Given the description of an element on the screen output the (x, y) to click on. 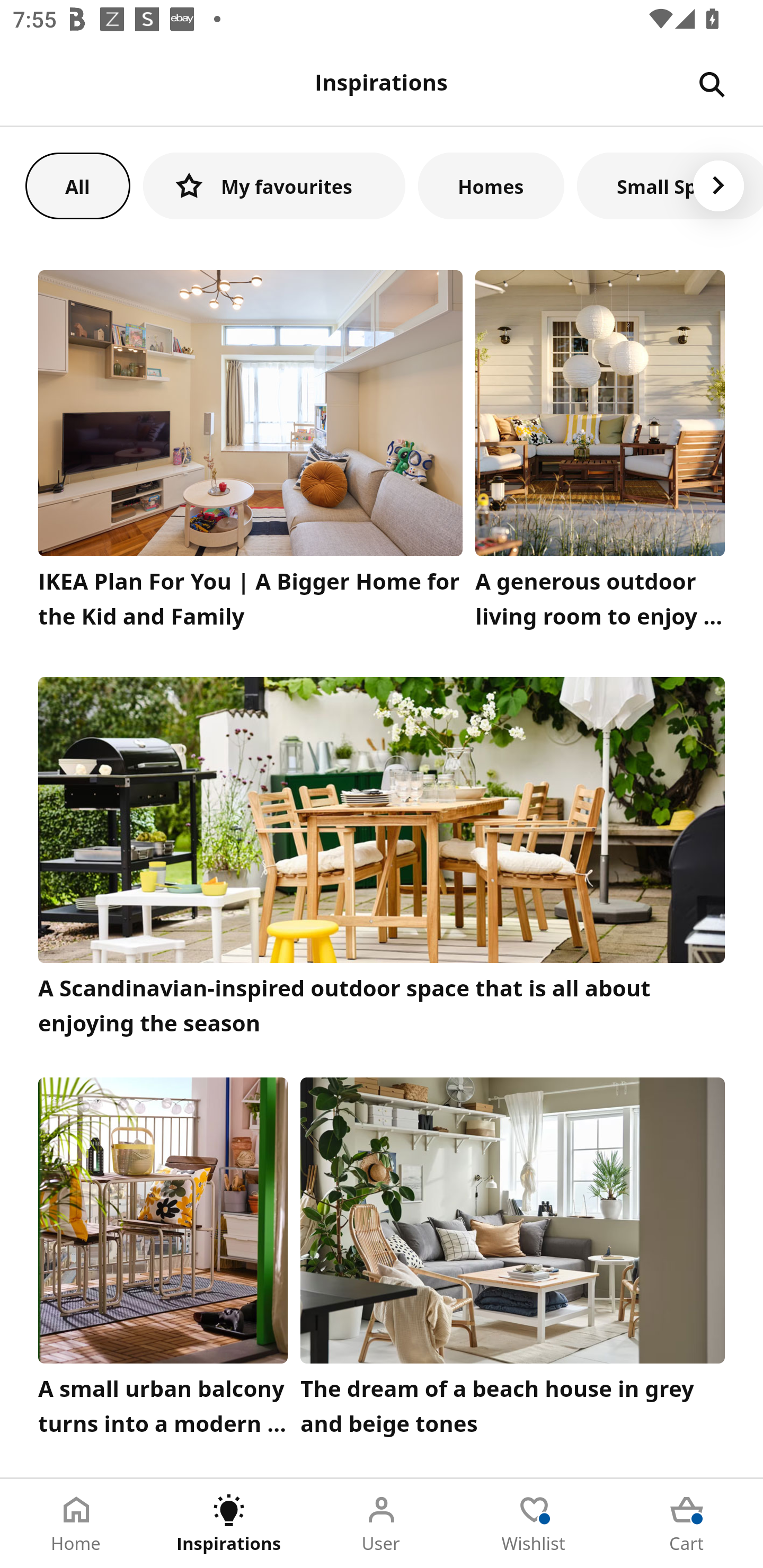
All (77, 185)
My favourites (274, 185)
Homes (491, 185)
Small Space (669, 185)
The dream of a beach house in grey and beige tones (512, 1261)
Home
Tab 1 of 5 (76, 1522)
Inspirations
Tab 2 of 5 (228, 1522)
User
Tab 3 of 5 (381, 1522)
Wishlist
Tab 4 of 5 (533, 1522)
Cart
Tab 5 of 5 (686, 1522)
